Given the description of an element on the screen output the (x, y) to click on. 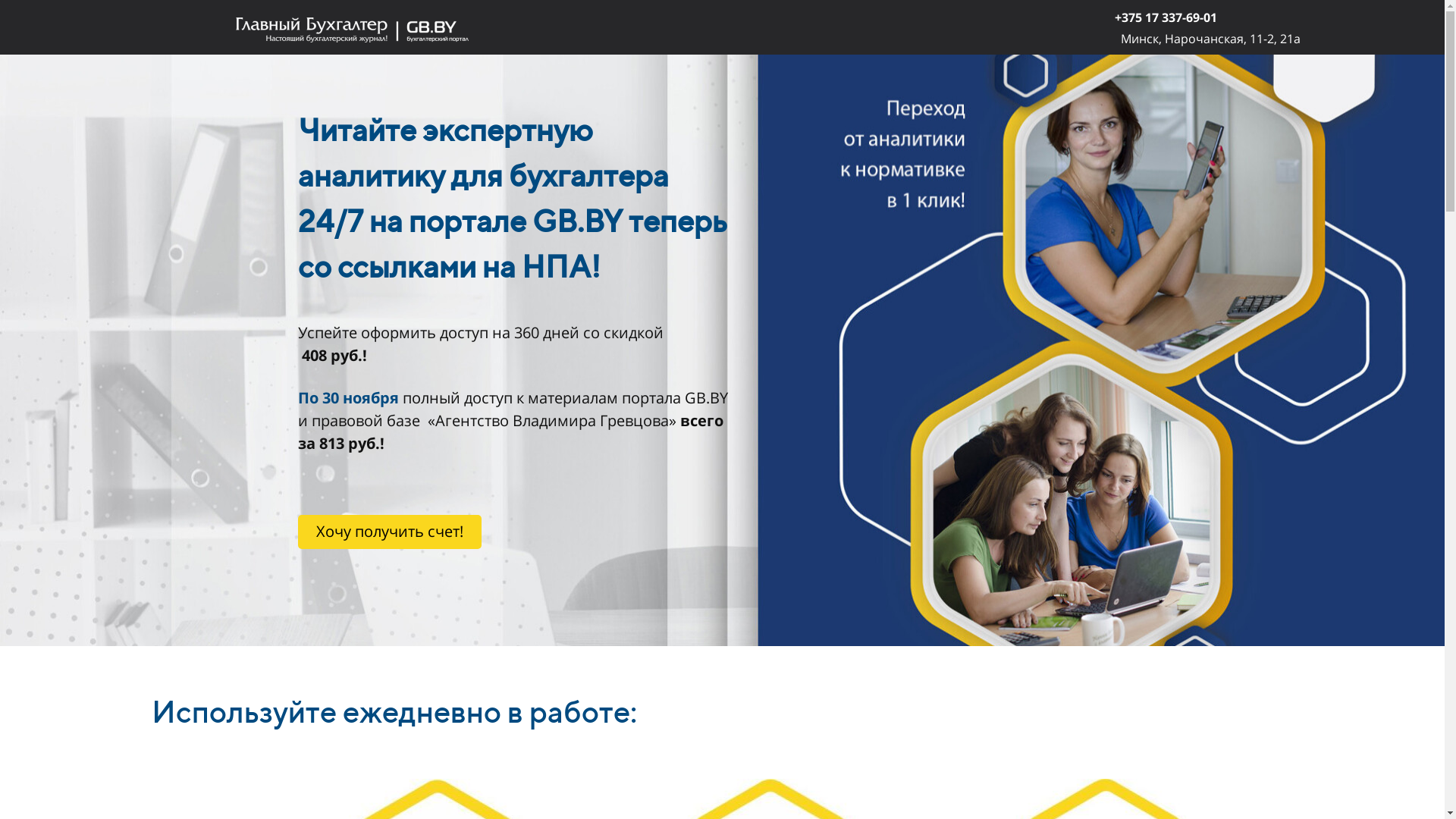
+375 17 337-69-01 Element type: text (1165, 17)
